Given the description of an element on the screen output the (x, y) to click on. 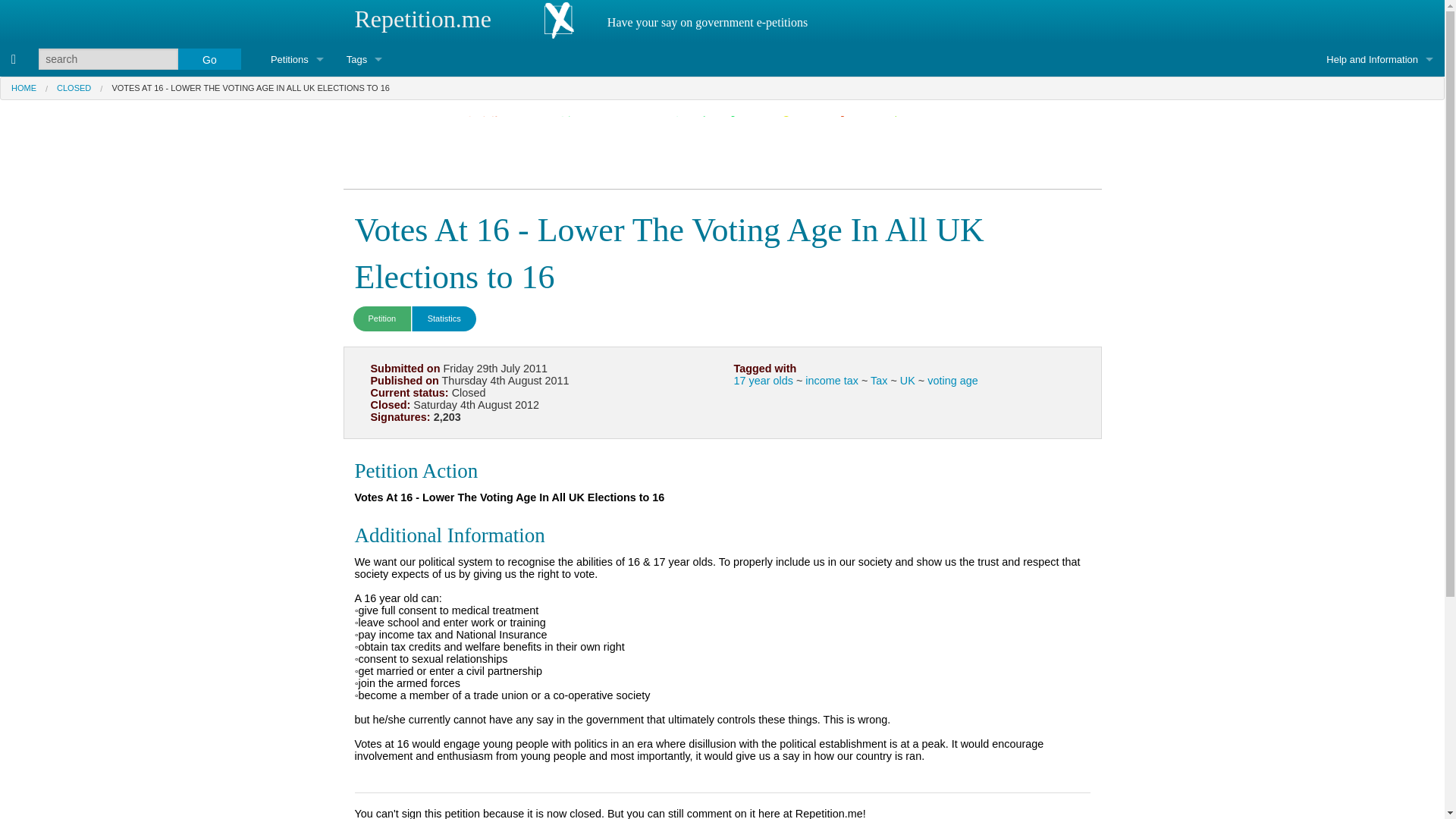
Go (209, 58)
Tumbleweed Alley (296, 434)
Open (296, 93)
voting age (951, 380)
Big Hitters (296, 366)
Government response (296, 229)
Petition (382, 318)
HOME (23, 87)
Rejected (296, 161)
UK (907, 380)
By date (296, 195)
New petitions (296, 332)
Departments (363, 127)
Repetition.me (423, 18)
income tax (832, 380)
